Given the description of an element on the screen output the (x, y) to click on. 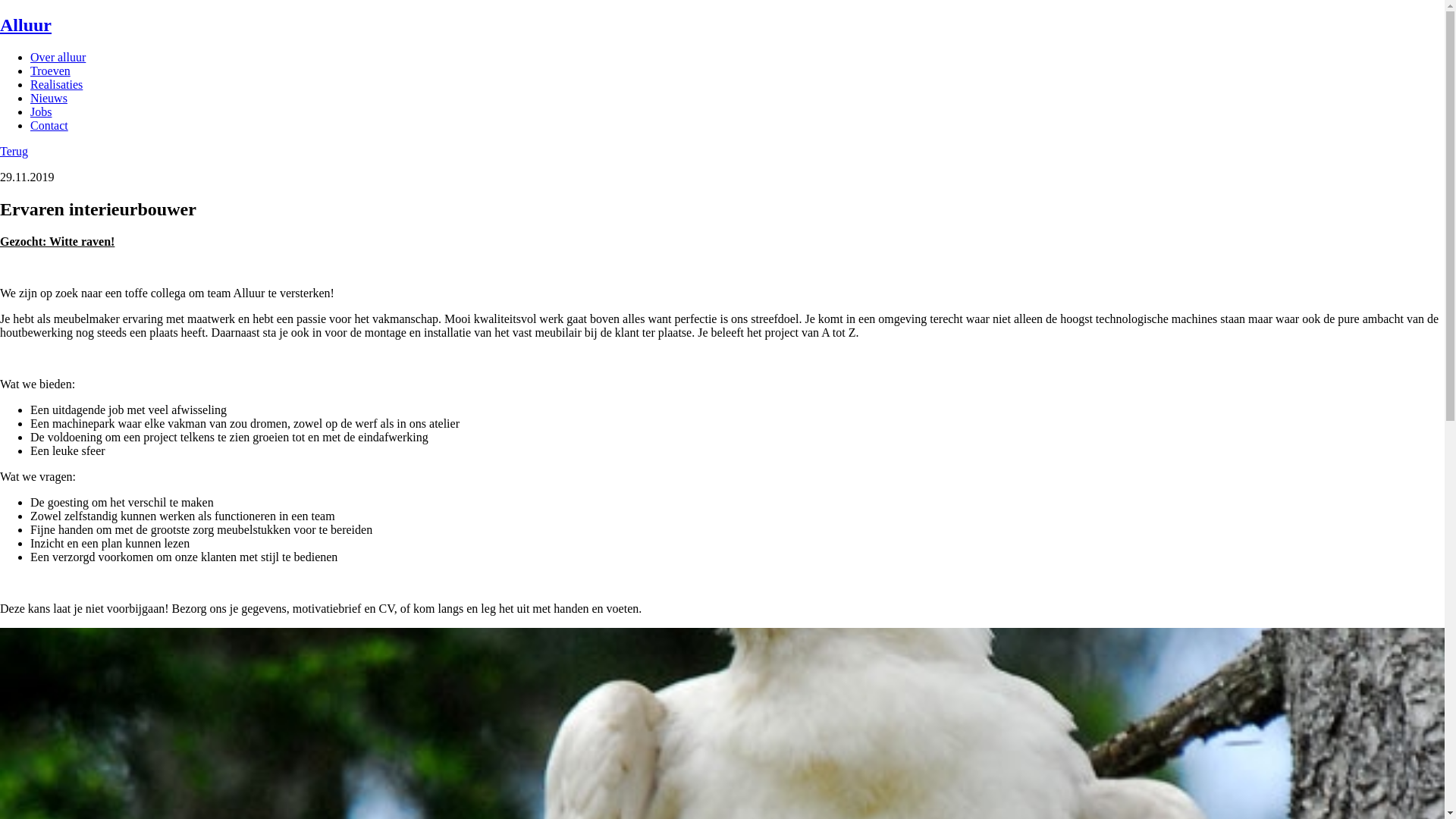
Realisaties Element type: text (56, 84)
Over alluur Element type: text (57, 56)
Nieuws Element type: text (48, 97)
Terug Element type: text (14, 150)
Alluur Element type: text (722, 25)
Jobs Element type: text (40, 111)
Contact Element type: text (49, 125)
Troeven Element type: text (50, 70)
